Given the description of an element on the screen output the (x, y) to click on. 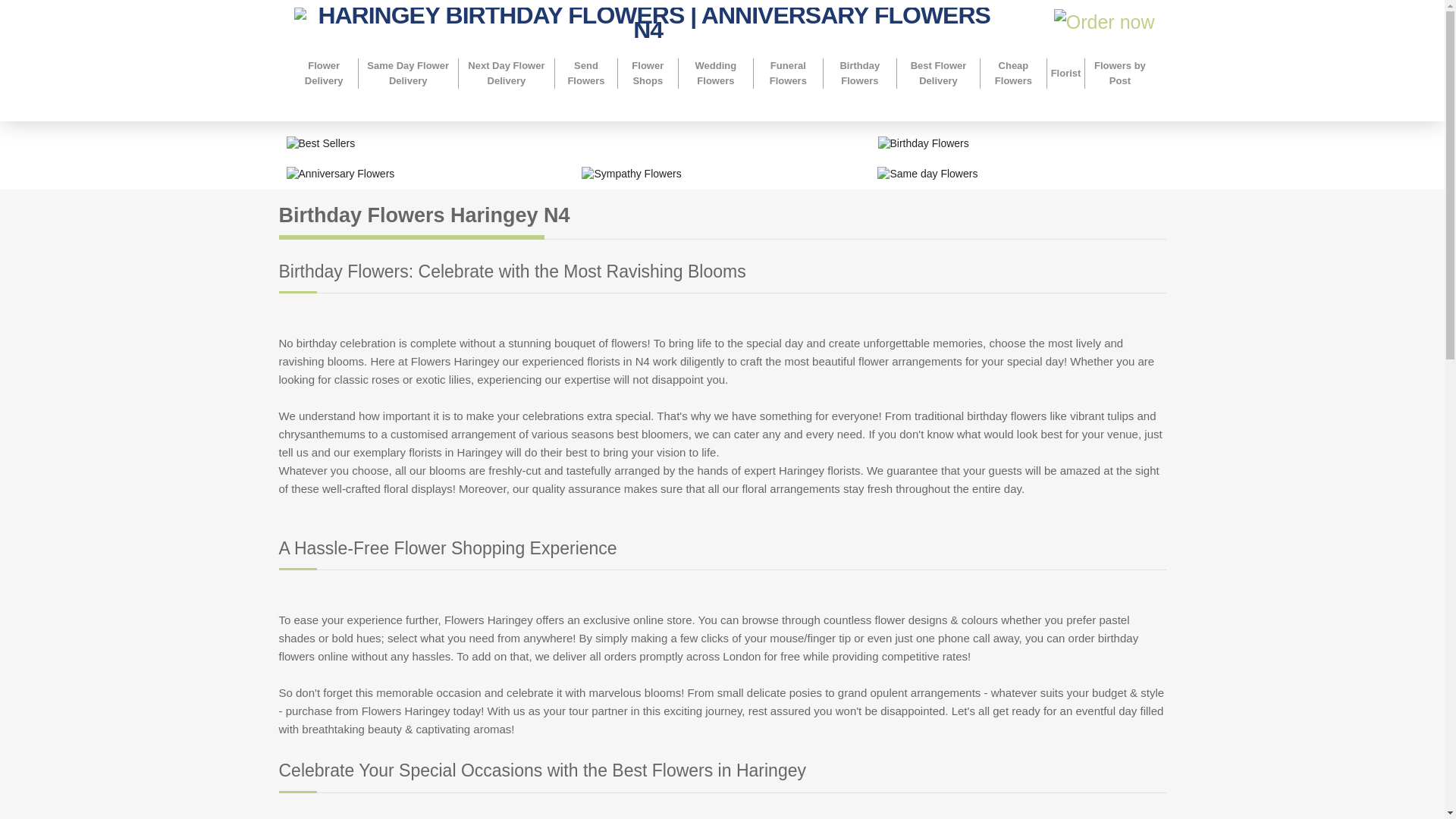
Cheap Flowers (1013, 73)
Flowers by Post (1119, 73)
Next Day Flower Delivery (507, 73)
Florist (1066, 73)
Same Day Flower Delivery (408, 73)
Funeral Flowers (787, 73)
 Sympathy Flowers (720, 174)
Wedding Flowers (715, 73)
Birthday Flowers (859, 73)
Birthday Flowers  (1017, 143)
Send Flowers (585, 73)
Best Sellers  (574, 143)
 Same day Flowers (1017, 174)
Flower Shops (647, 73)
Flower Delivery (323, 73)
